Given the description of an element on the screen output the (x, y) to click on. 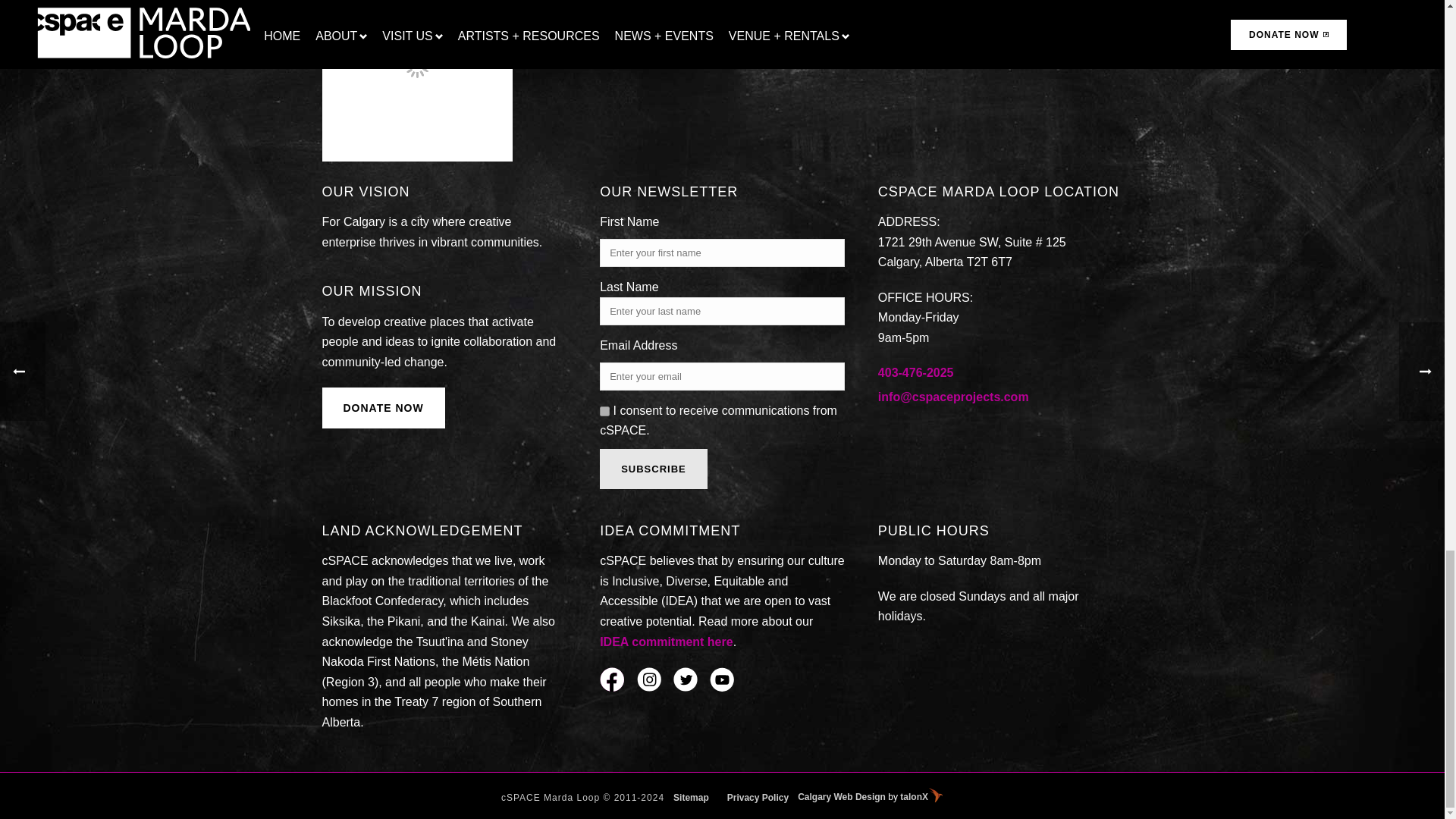
1 (604, 411)
Subscribe (653, 468)
